Given the description of an element on the screen output the (x, y) to click on. 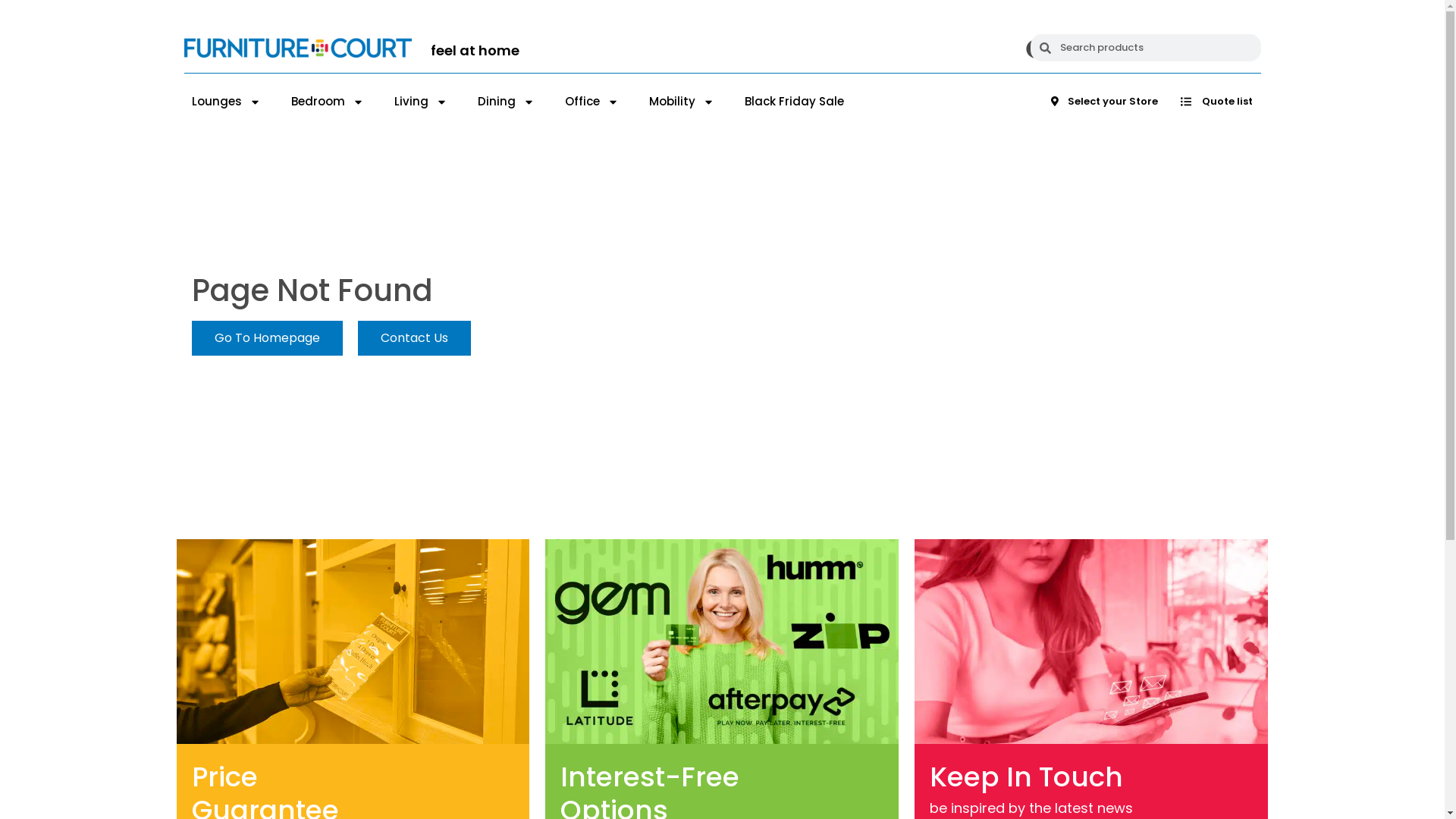
Keep In Touch Element type: text (1037, 776)
Contact Us Element type: text (413, 337)
Quote list Element type: text (1216, 101)
Dining Element type: text (505, 101)
Bedroom Element type: text (327, 101)
Office Element type: text (591, 101)
Mobility Element type: text (681, 101)
Lounges Element type: text (225, 101)
Select your Store Element type: text (1104, 101)
Go To Homepage Element type: text (266, 337)
Black Friday Sale Element type: text (794, 101)
Living Element type: text (420, 101)
